Given the description of an element on the screen output the (x, y) to click on. 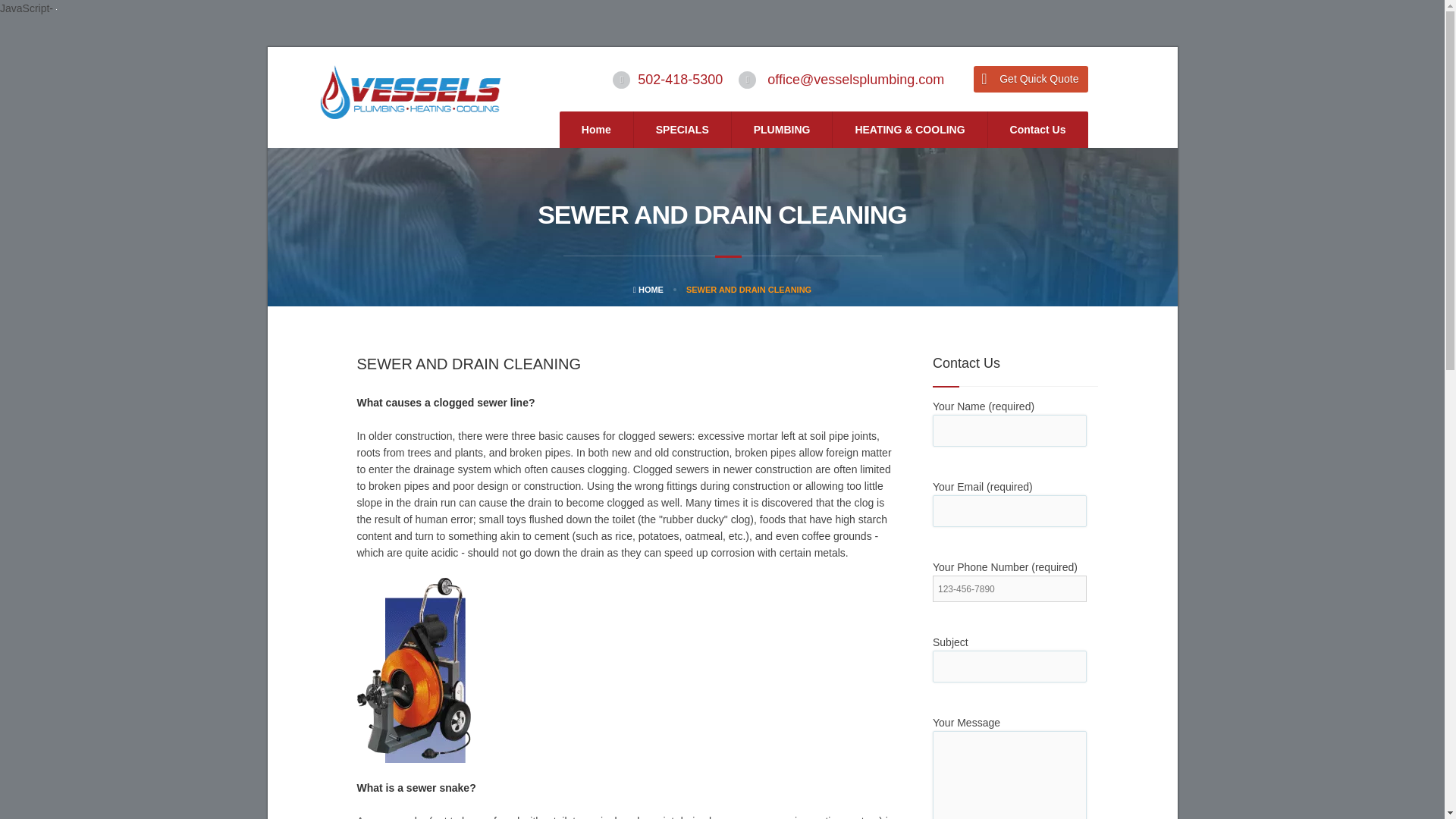
SPECIALS (681, 129)
Home (596, 129)
Contact Us (1037, 129)
PLUMBING (782, 129)
HOME (648, 289)
Get Quick Quote (1030, 79)
